Given the description of an element on the screen output the (x, y) to click on. 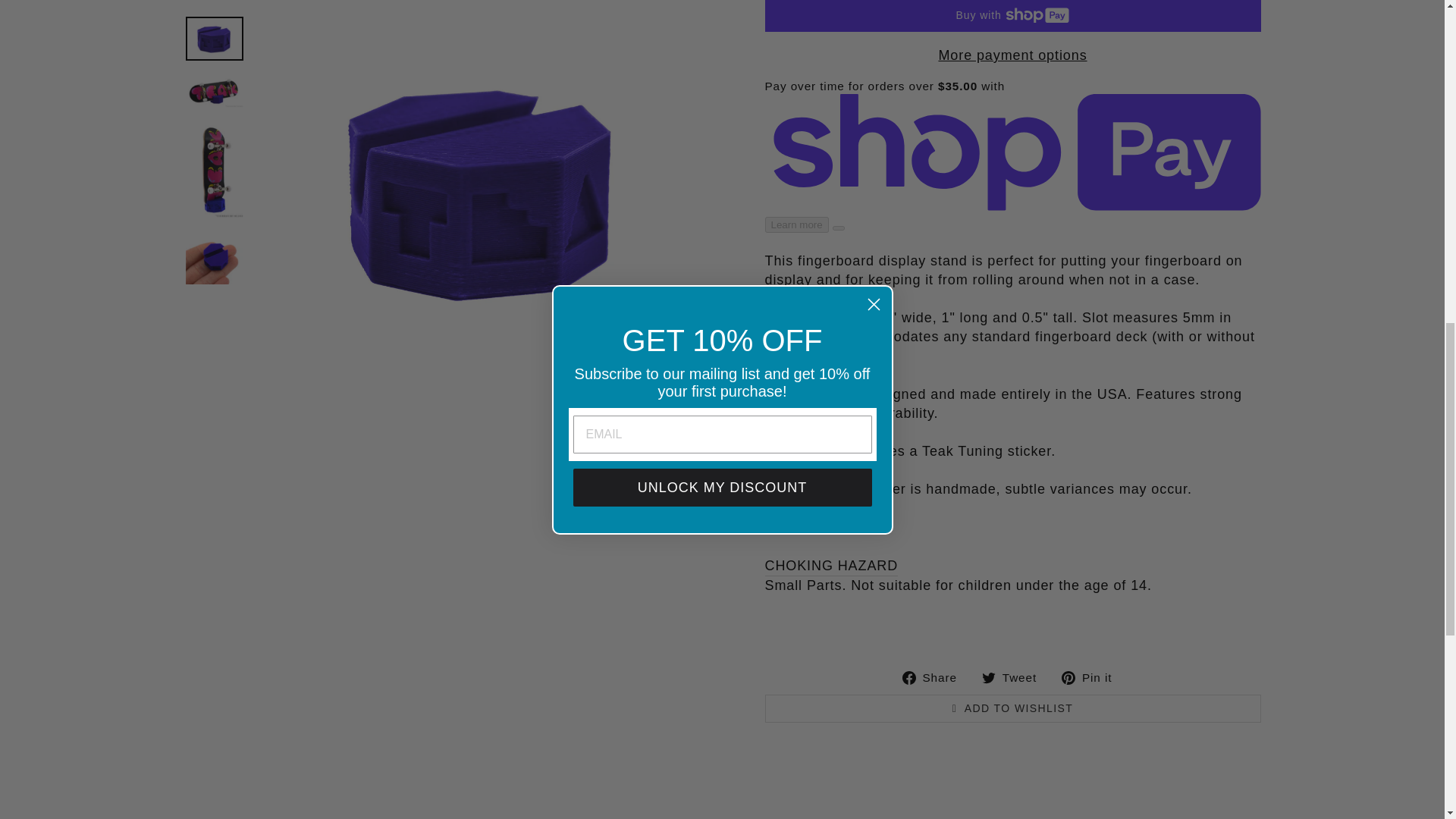
Share on Facebook (935, 676)
Tweet on Twitter (1014, 676)
Pin on Pinterest (1091, 676)
twitter (988, 677)
